Given the description of an element on the screen output the (x, y) to click on. 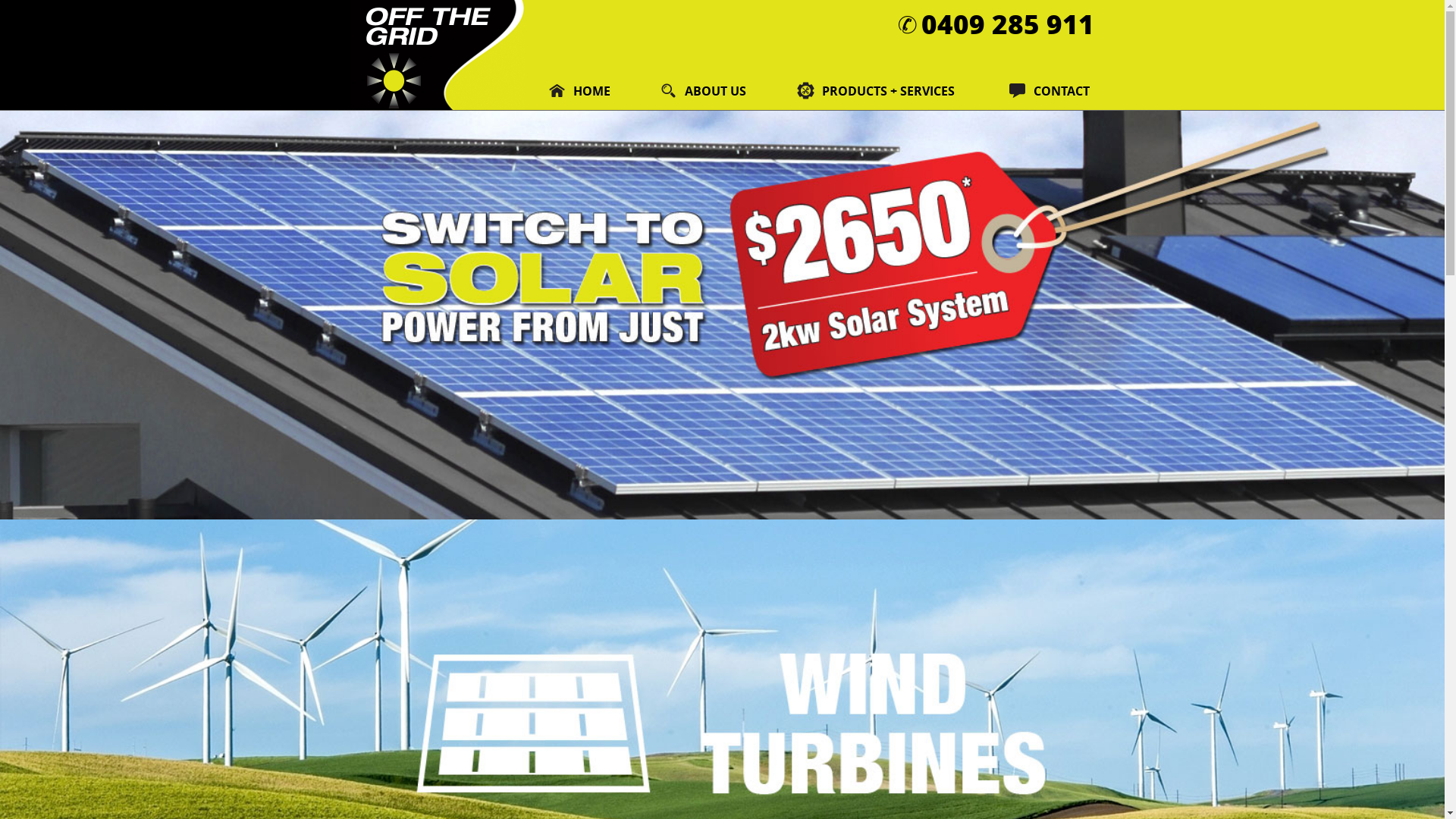
0409 285 911 Element type: text (1006, 23)
ABOUT US Element type: text (705, 90)
HOME Element type: text (580, 90)
PRODUCTS + SERVICES Element type: text (879, 90)
CONTACT Element type: text (1039, 90)
